Given the description of an element on the screen output the (x, y) to click on. 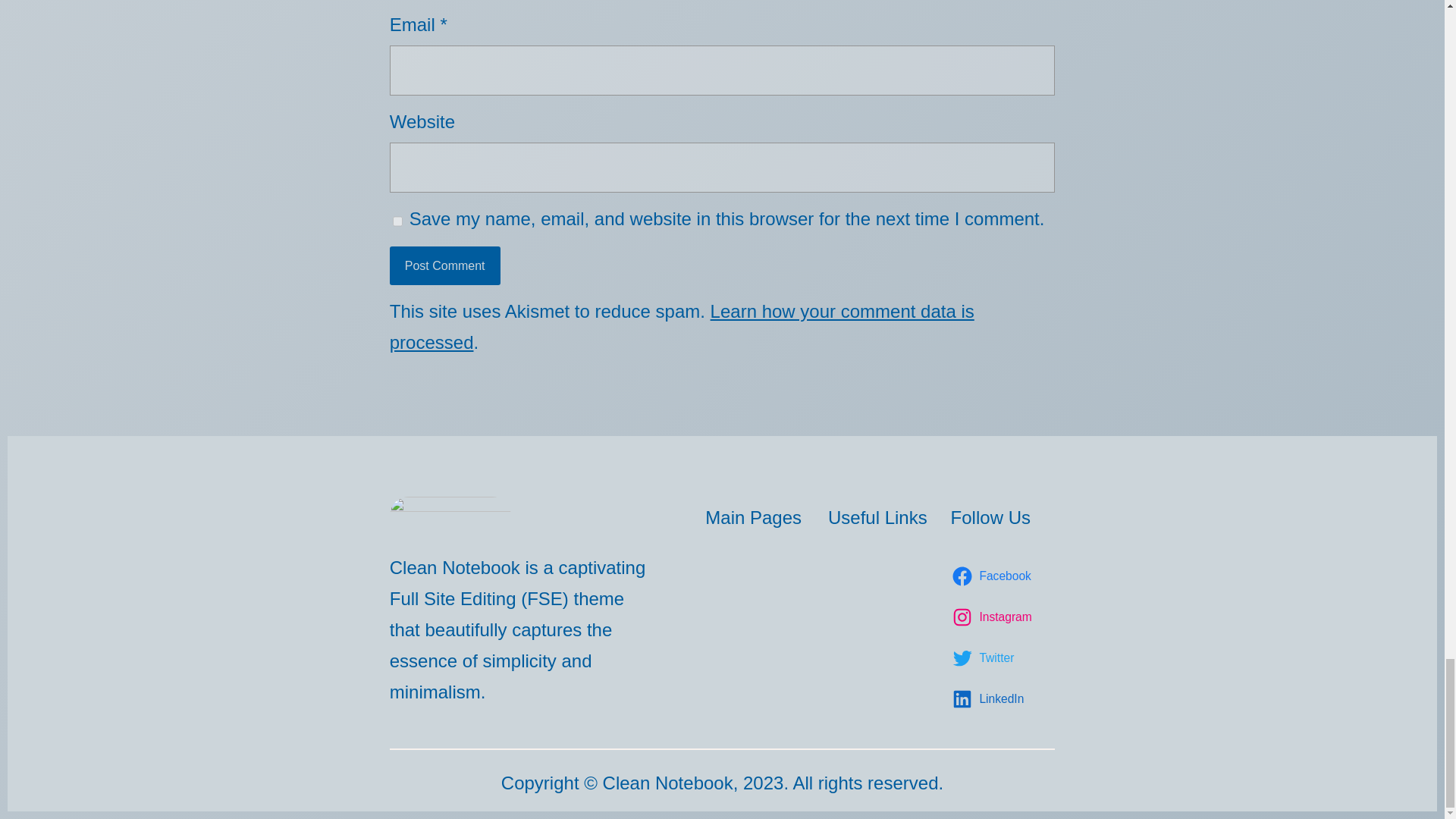
Instagram (994, 617)
Post Comment (445, 265)
Facebook (993, 576)
Post Comment (445, 265)
Learn how your comment data is processed (682, 326)
